Given the description of an element on the screen output the (x, y) to click on. 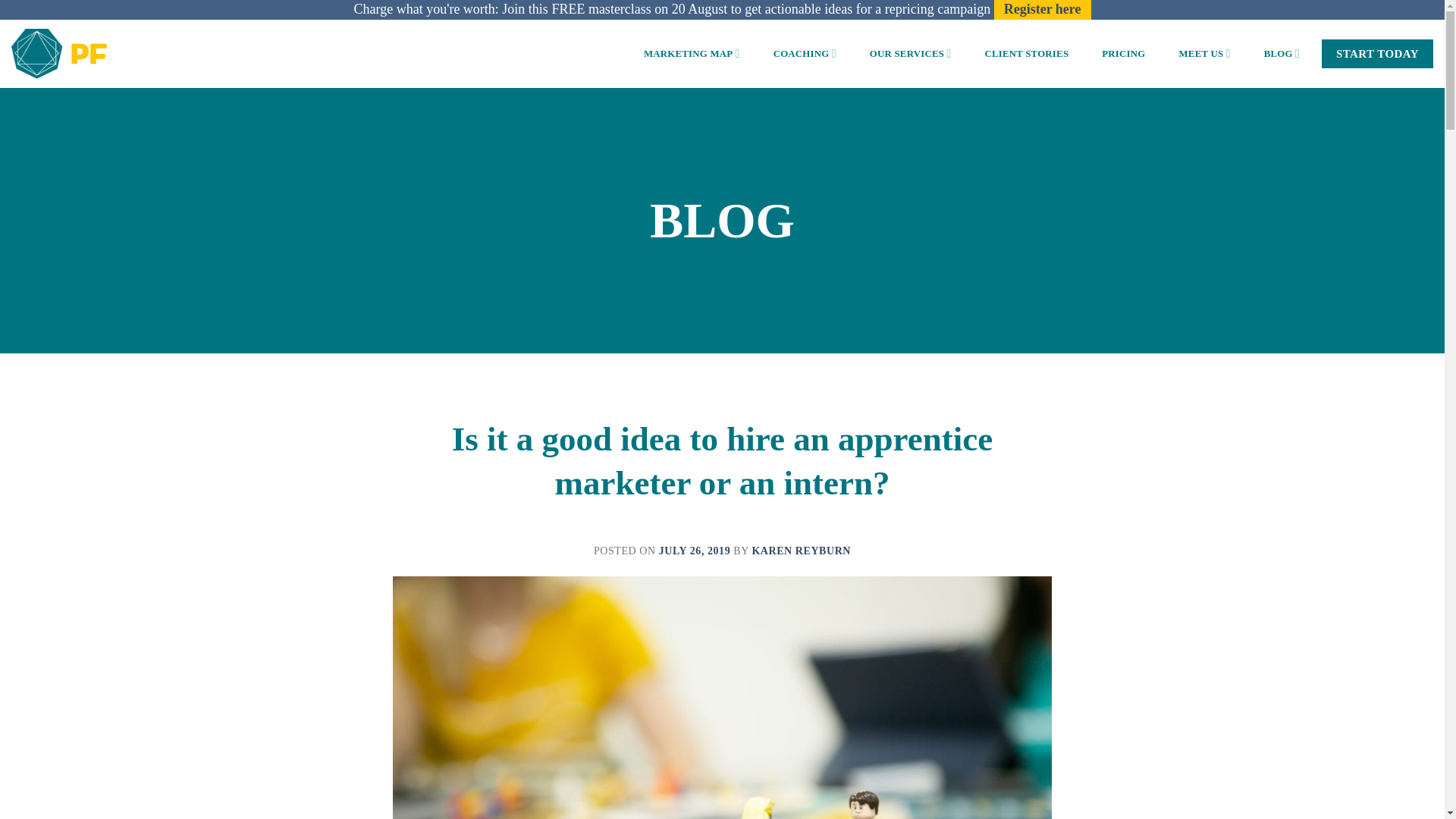
MEET US (1204, 52)
MARKETING MAP (691, 52)
JULY 26, 2019 (694, 550)
START TODAY (1377, 53)
CLIENT STORIES (1026, 53)
BLOG (1281, 52)
OUR SERVICES (910, 52)
PRICING (1123, 53)
Register here (1042, 9)
COACHING (804, 52)
